Given the description of an element on the screen output the (x, y) to click on. 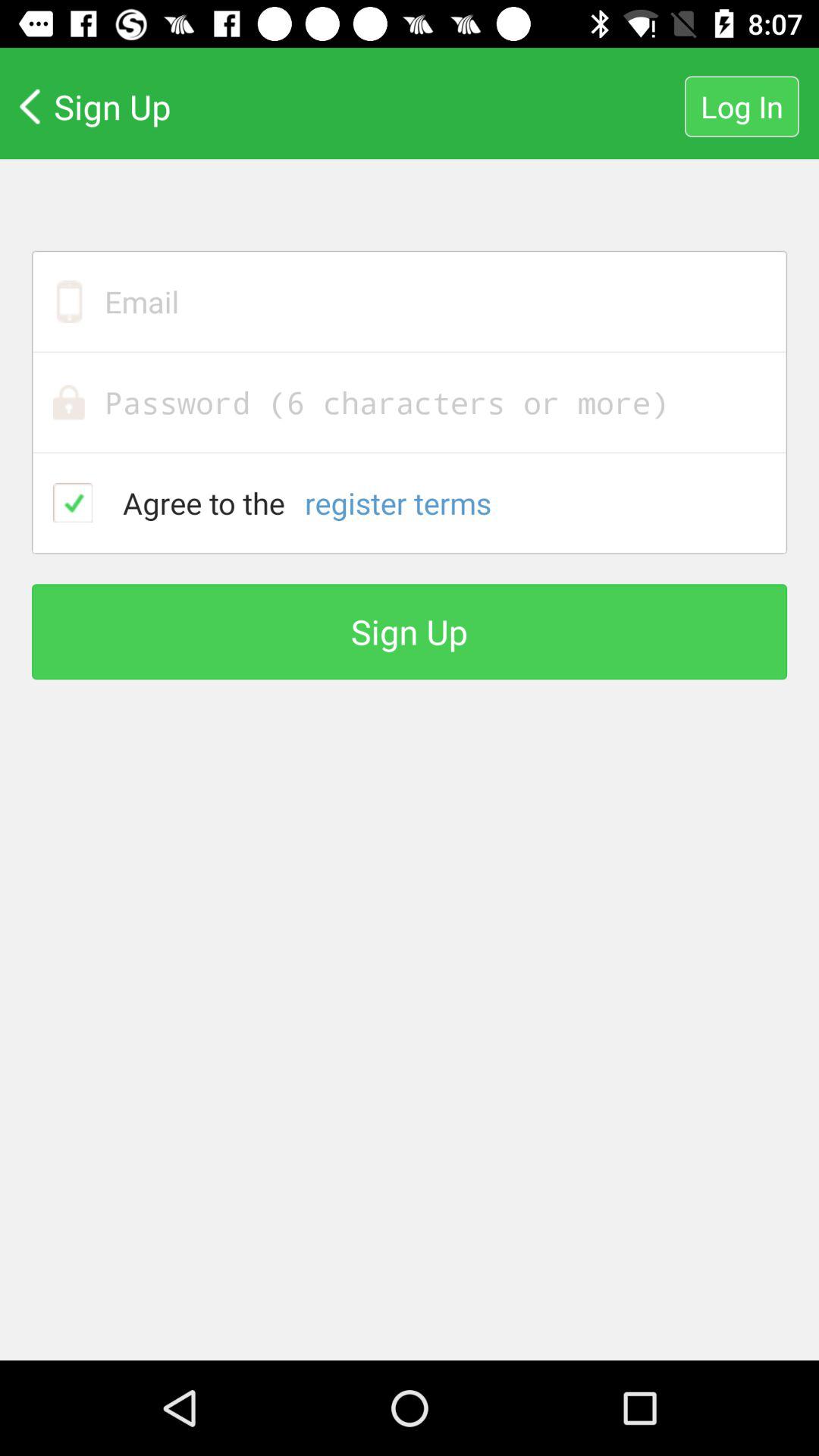
toggle the option to agree to the register terms (72, 502)
